Given the description of an element on the screen output the (x, y) to click on. 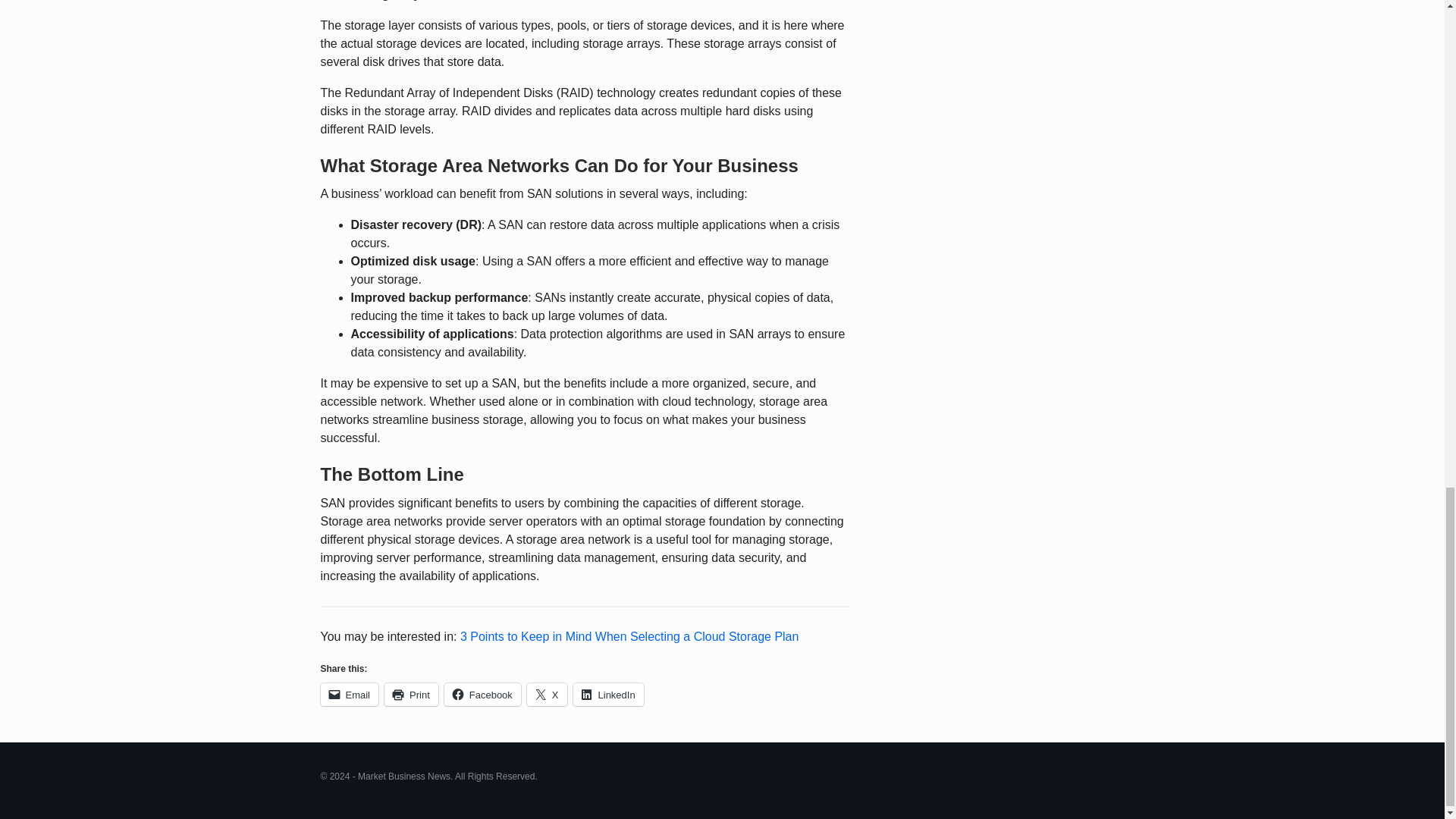
3 Points to Keep in Mind When Selecting a Cloud Storage Plan (629, 635)
Print (411, 694)
X (547, 694)
Click to print (411, 694)
Facebook (482, 694)
Click to share on Facebook (482, 694)
Click to email a link to a friend (349, 694)
Click to share on LinkedIn (608, 694)
Email (349, 694)
Click to share on X (547, 694)
